Given the description of an element on the screen output the (x, y) to click on. 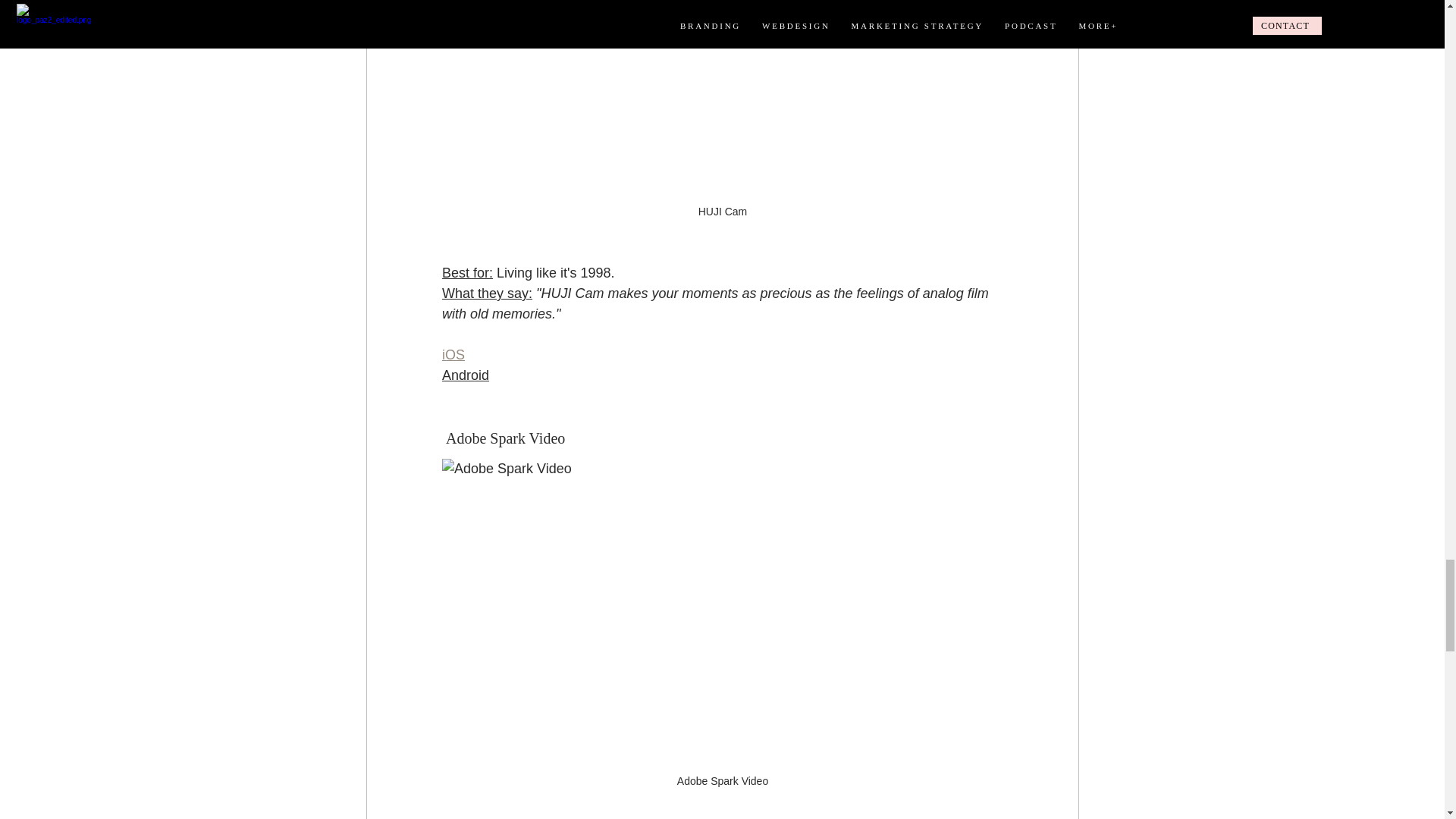
iOS (452, 354)
